Given the description of an element on the screen output the (x, y) to click on. 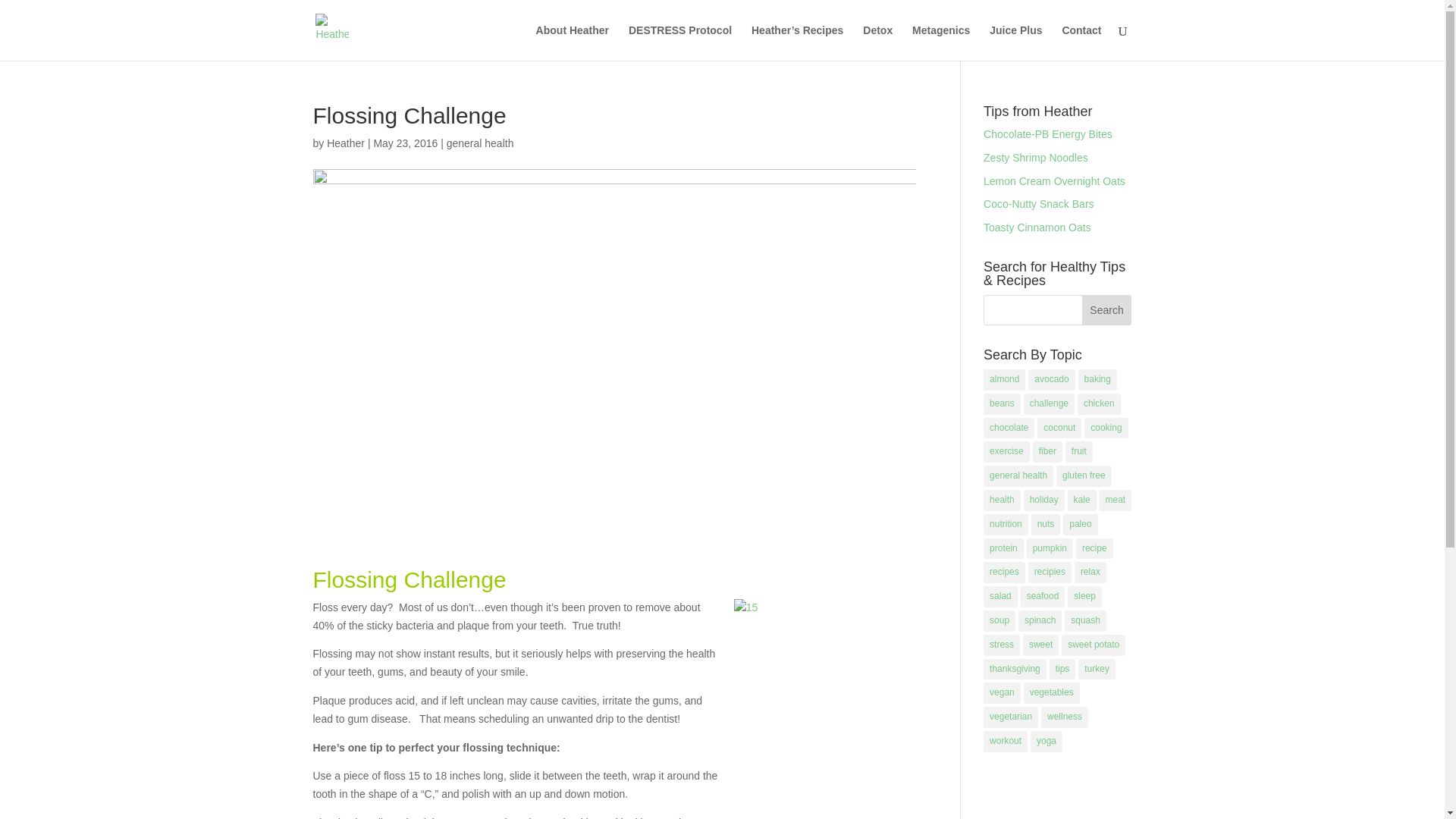
Search (1106, 309)
gluten free (1084, 476)
almond (1004, 379)
baking (1097, 379)
challenge (1048, 403)
Juice Plus (1016, 42)
pumpkin (1049, 548)
coconut (1058, 427)
paleo (1079, 524)
general health (479, 143)
